Given the description of an element on the screen output the (x, y) to click on. 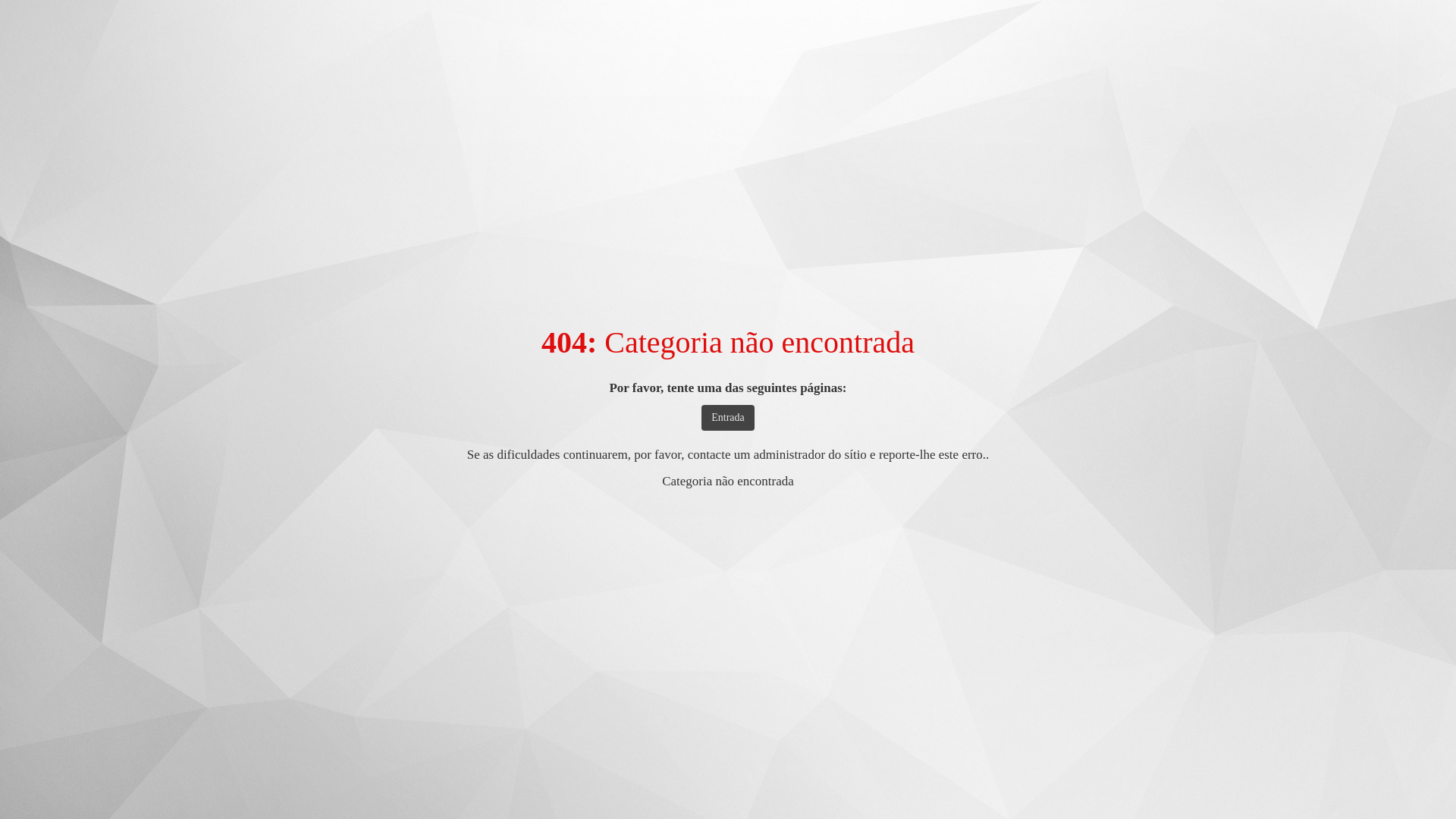
Entrada Element type: text (727, 417)
